Given the description of an element on the screen output the (x, y) to click on. 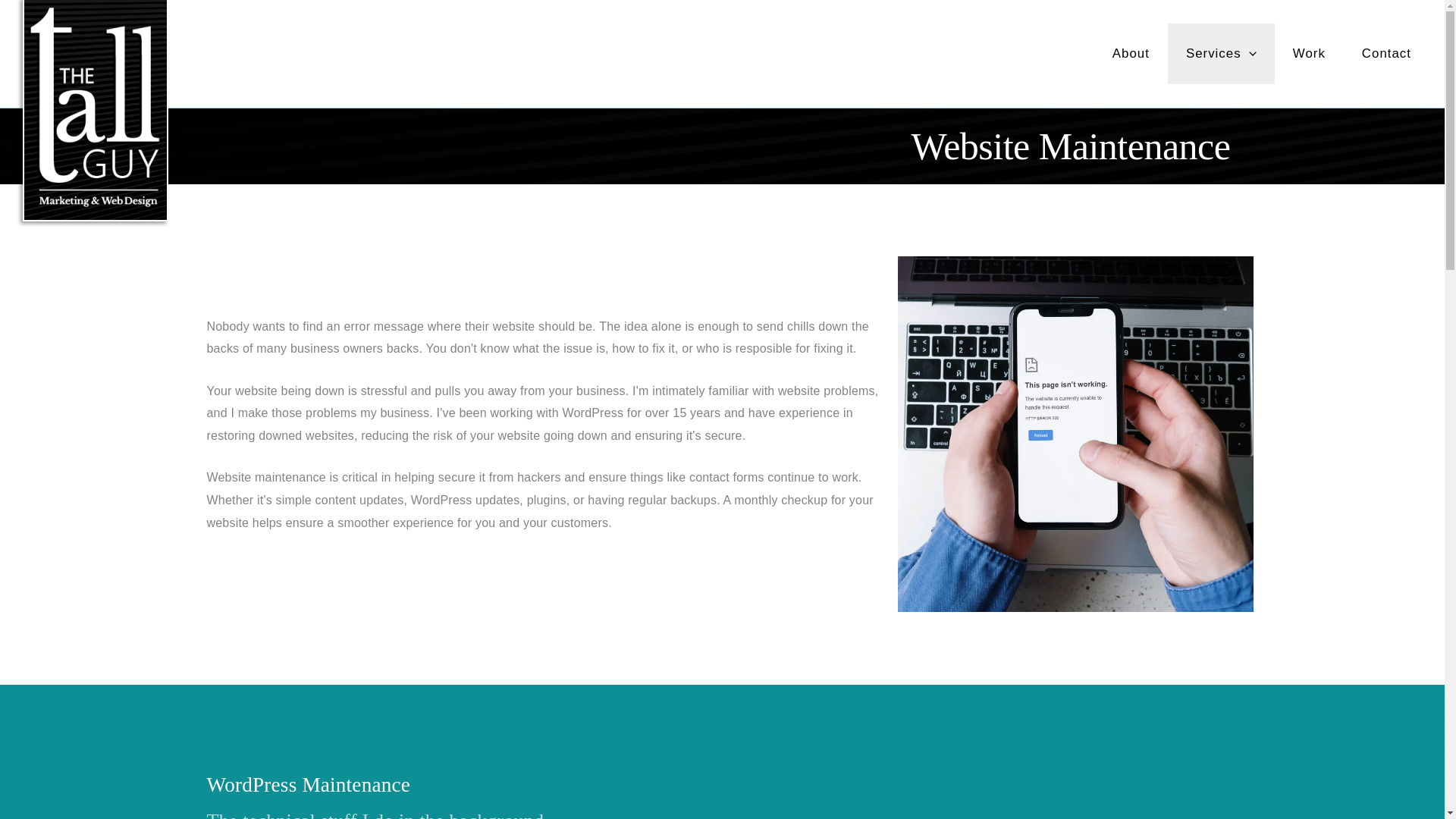
Contact (1386, 53)
website-error-mobile (1075, 433)
About (1130, 53)
Services (1221, 53)
Work (1309, 53)
